Given the description of an element on the screen output the (x, y) to click on. 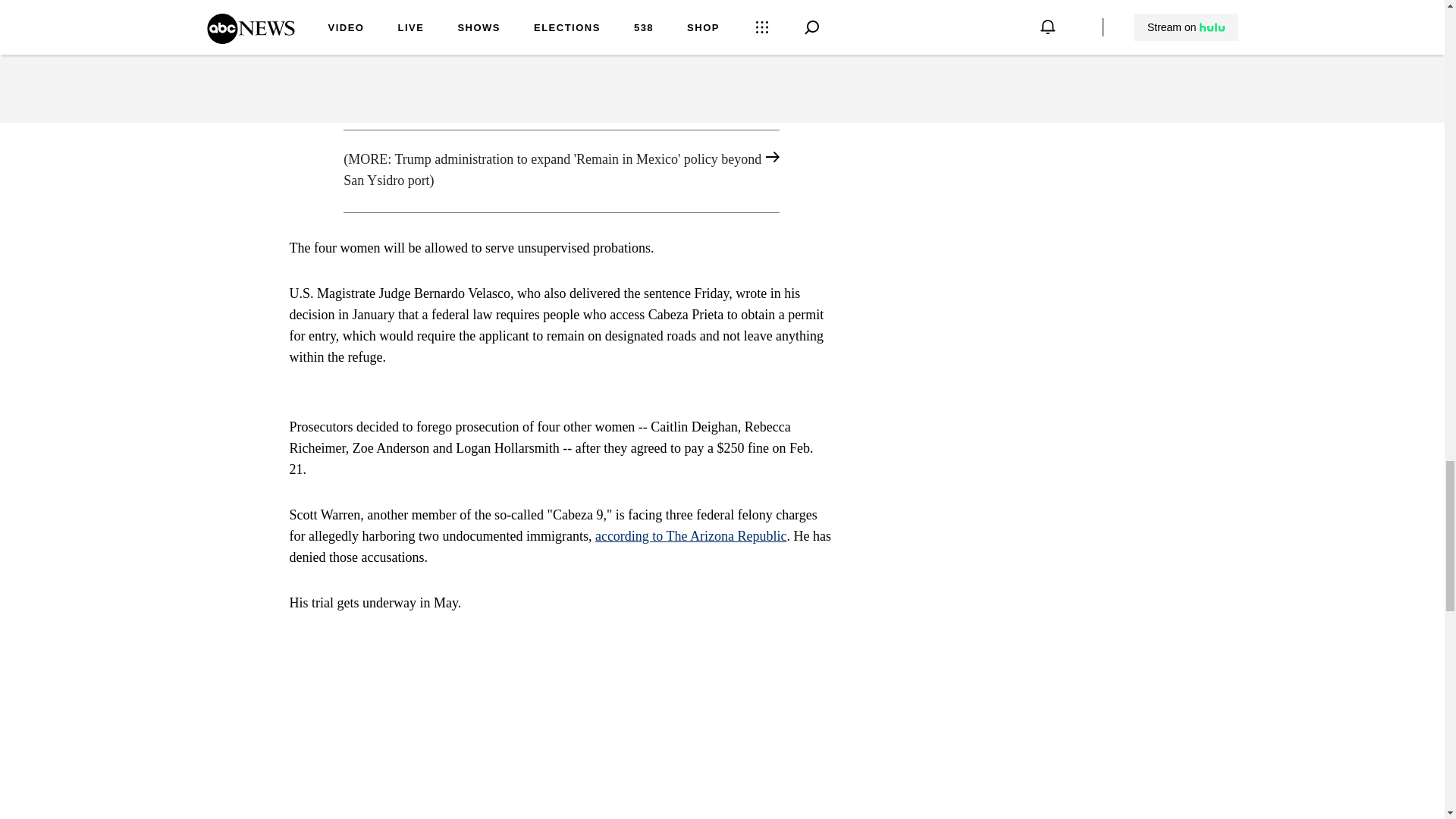
according to The Arizona Republic (691, 535)
